Given the description of an element on the screen output the (x, y) to click on. 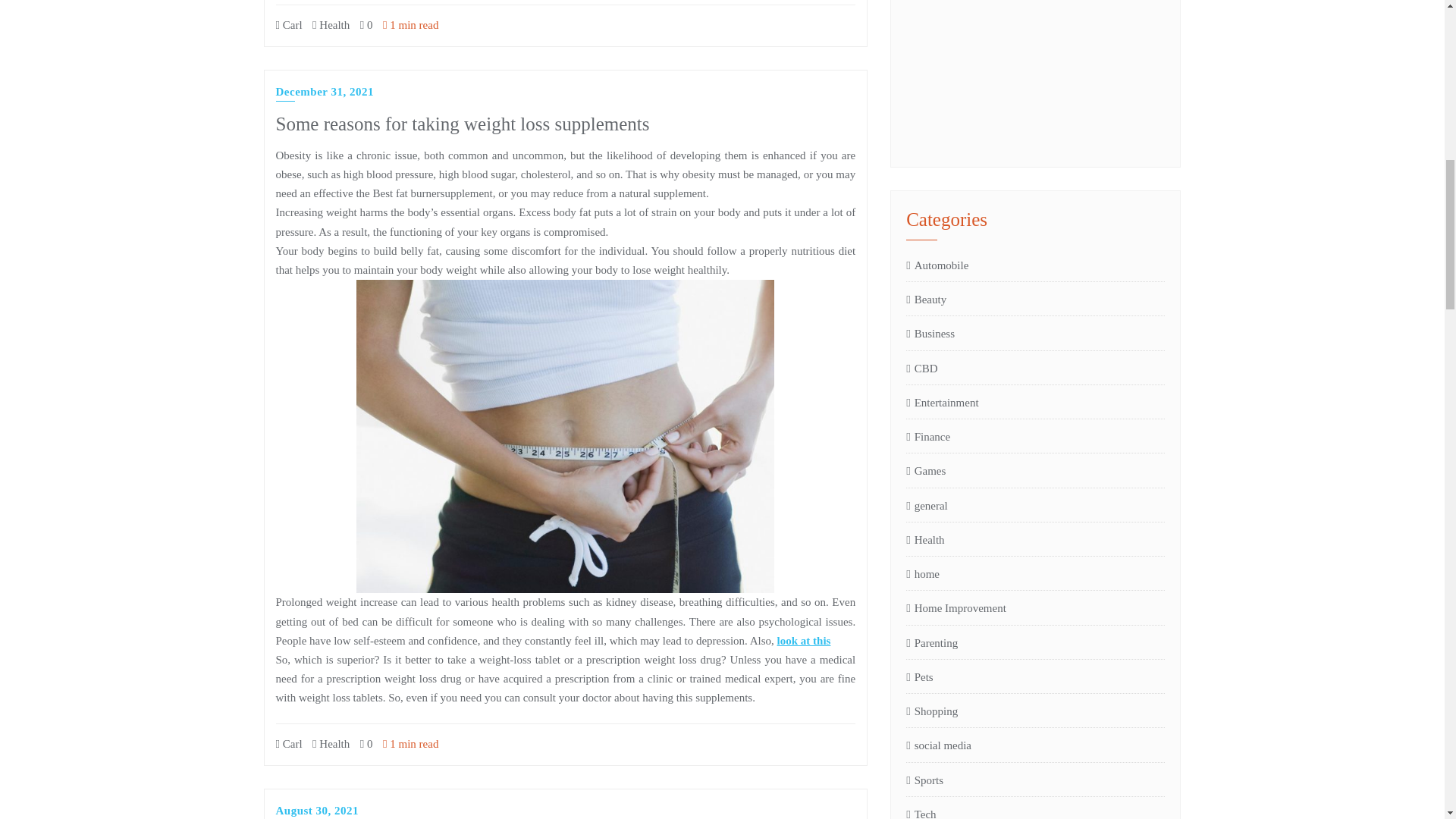
August 30, 2021 (317, 811)
Health (331, 24)
Carl (289, 743)
Some reasons for taking weight loss supplements (462, 123)
look at this (804, 640)
0 (365, 743)
December 31, 2021 (325, 93)
Health (331, 743)
0 (365, 24)
Carl (289, 24)
